Given the description of an element on the screen output the (x, y) to click on. 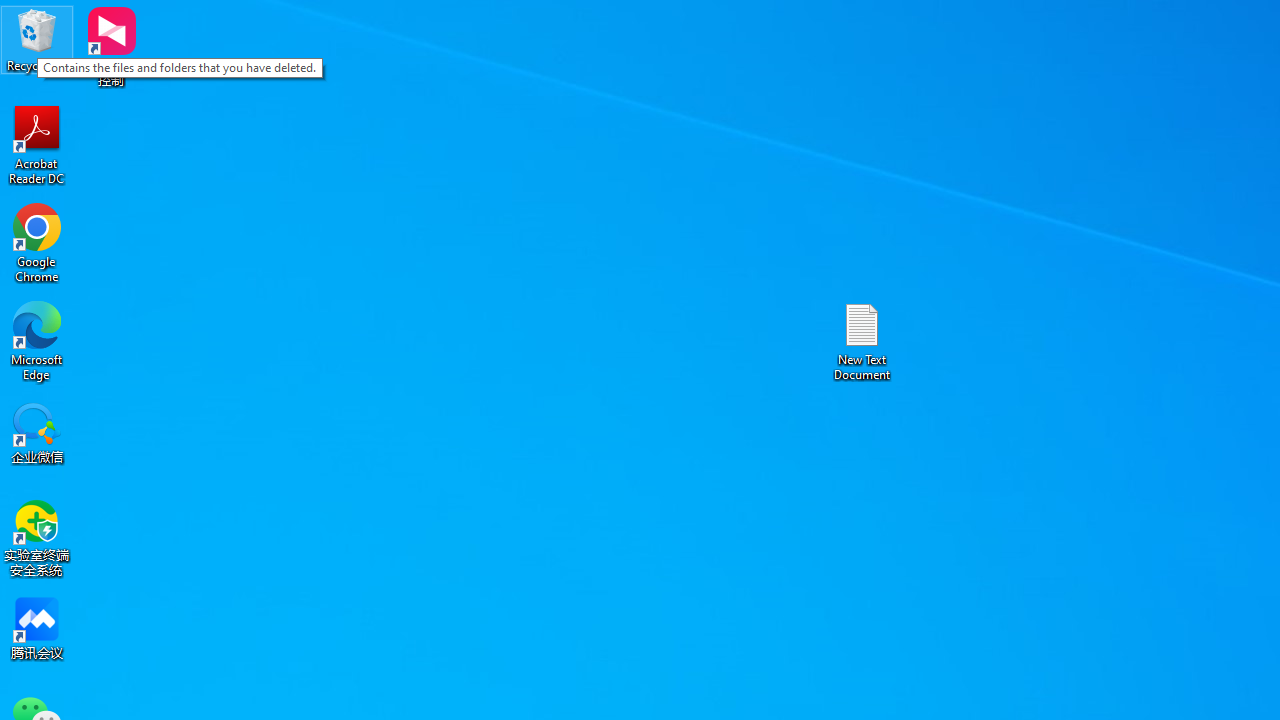
Google Chrome (37, 242)
Recycle Bin (37, 39)
New Text Document (861, 340)
Microsoft Edge (37, 340)
Acrobat Reader DC (37, 144)
